Given the description of an element on the screen output the (x, y) to click on. 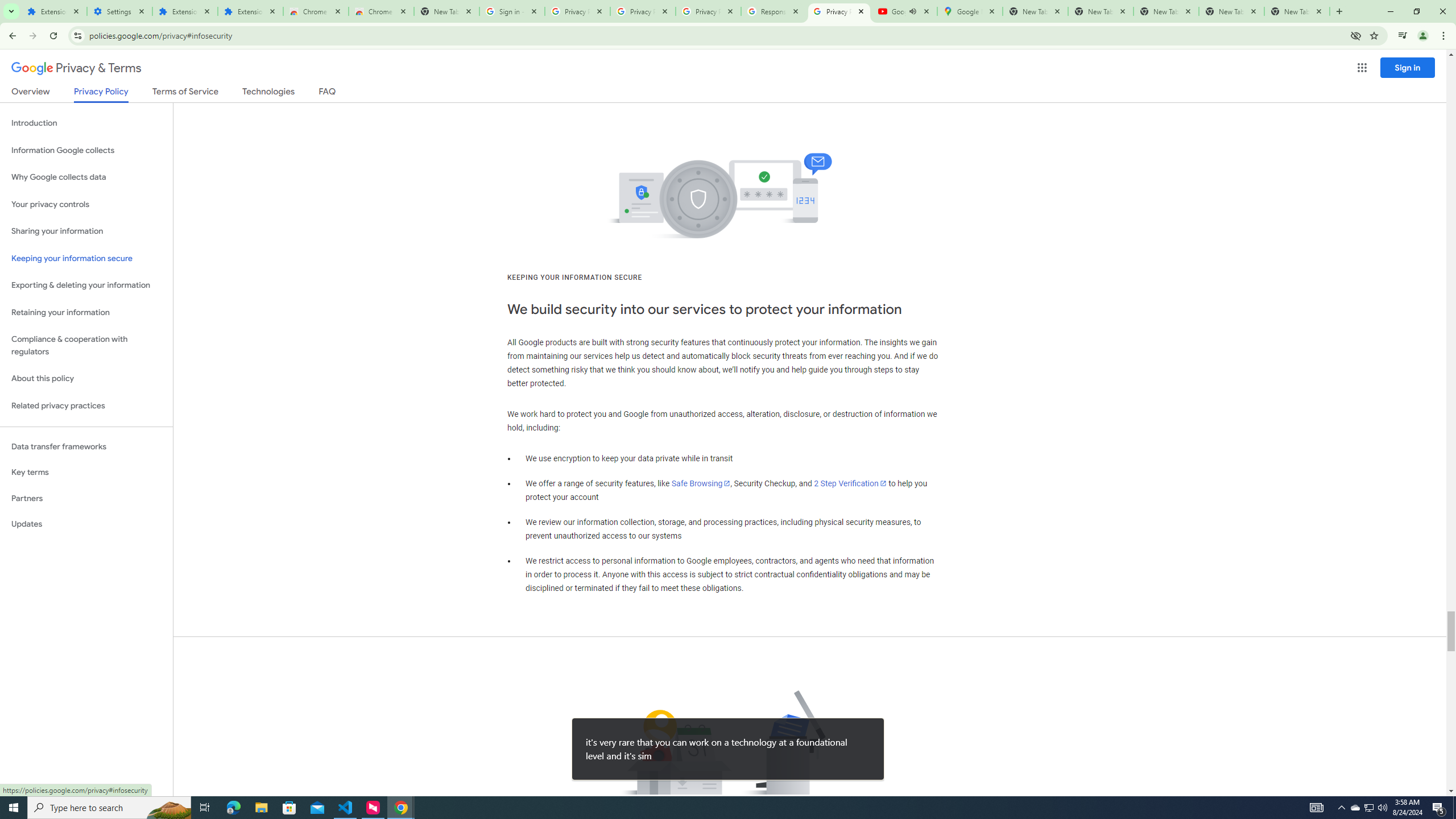
Exporting & deleting your information (86, 284)
2 Step Verification (849, 483)
Information Google collects (86, 150)
Chrome Web Store - Themes (381, 11)
Related privacy practices (86, 405)
About this policy (86, 379)
Keeping your information secure (86, 258)
